Given the description of an element on the screen output the (x, y) to click on. 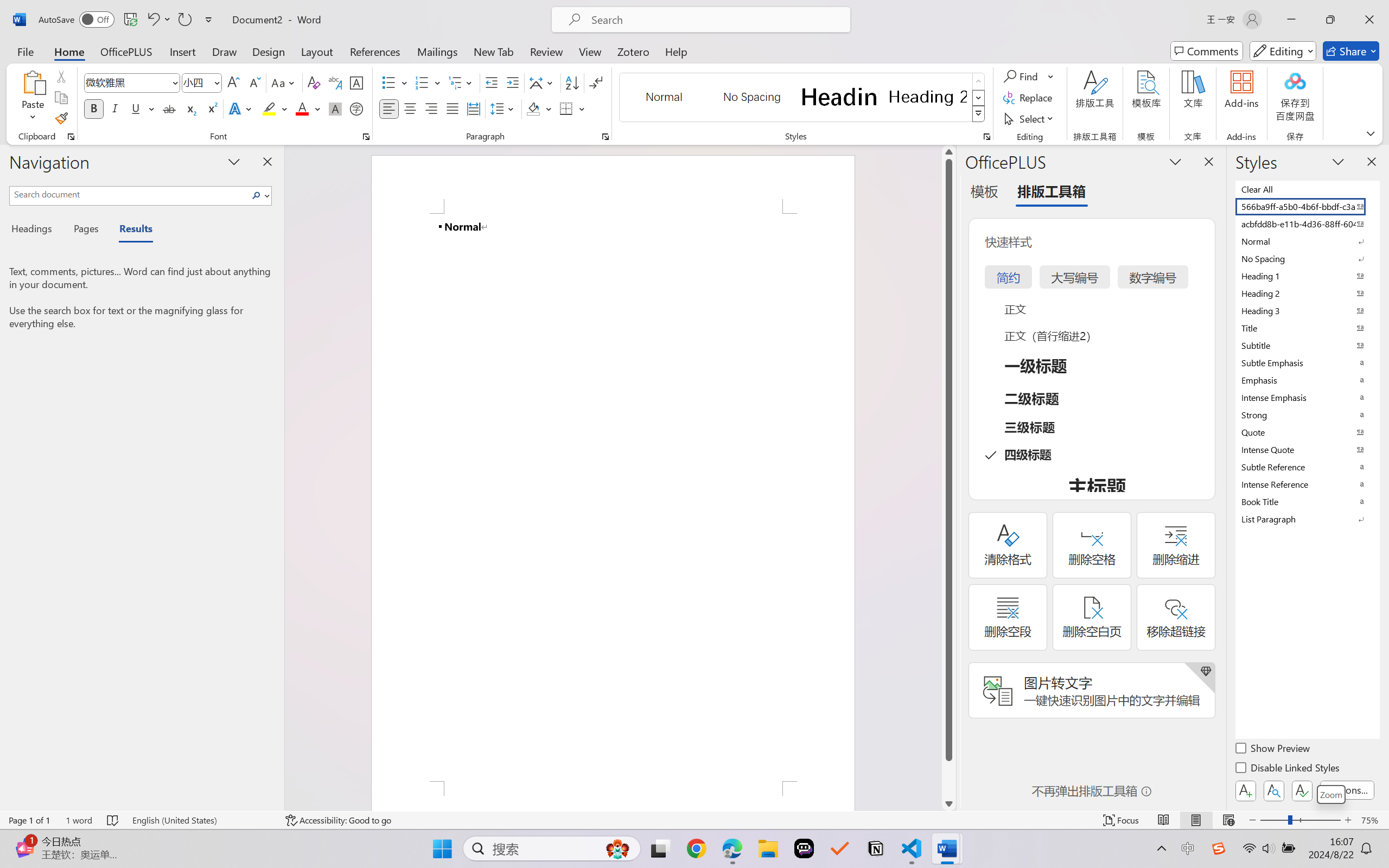
Zoom In (1348, 819)
Class: NetUIImage (978, 114)
Decrease Indent (491, 82)
Change Case (284, 82)
Restore Down (1330, 19)
Review (546, 51)
Page 1 content (612, 497)
Microsoft search (715, 19)
Comments (1206, 50)
Share (1350, 51)
Accessibility Checker Accessibility: Good to go (338, 819)
Intense Reference (1306, 484)
Font Size (196, 82)
Character Border (356, 82)
